Given the description of an element on the screen output the (x, y) to click on. 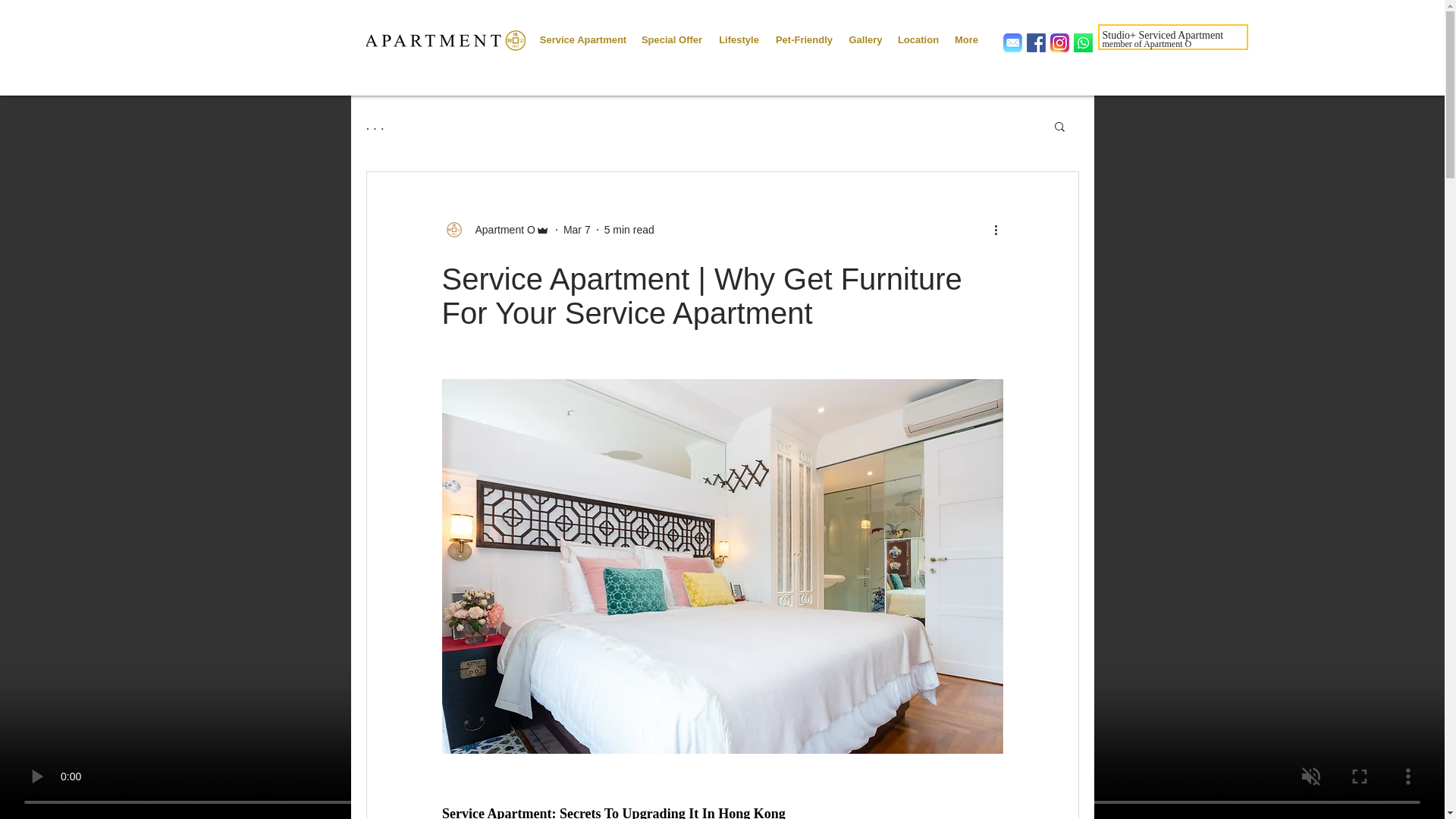
Pet-Friendly (803, 33)
Location (916, 33)
Gallery (864, 33)
Apartment O (494, 229)
Service Apartment (582, 33)
member of Apartment O (1147, 43)
Special Offer (671, 33)
Lifestyle (738, 33)
Apartment O (499, 229)
5 min read (628, 228)
